Given the description of an element on the screen output the (x, y) to click on. 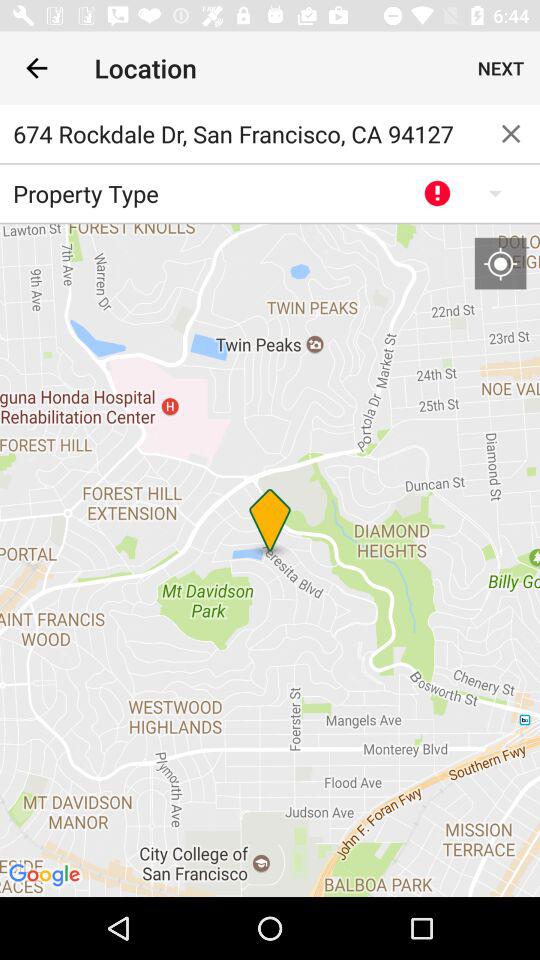
my location (500, 263)
